Given the description of an element on the screen output the (x, y) to click on. 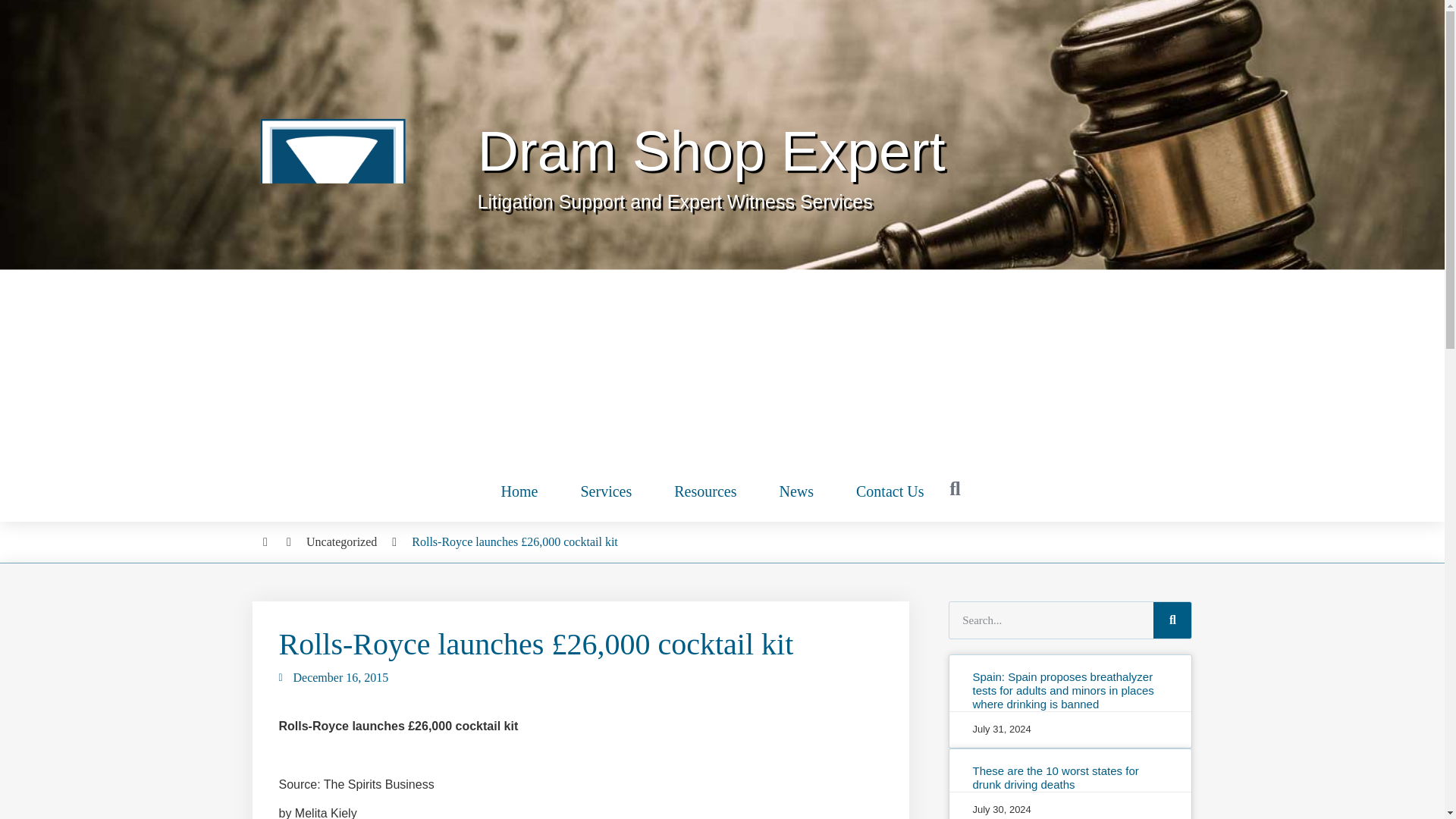
Uncategorized (341, 542)
News (795, 491)
Home (519, 491)
Contact Us (889, 491)
Services (605, 491)
Resources (704, 491)
December 16, 2015 (333, 678)
These are the 10 worst states for drunk driving deaths (1055, 777)
